Given the description of an element on the screen output the (x, y) to click on. 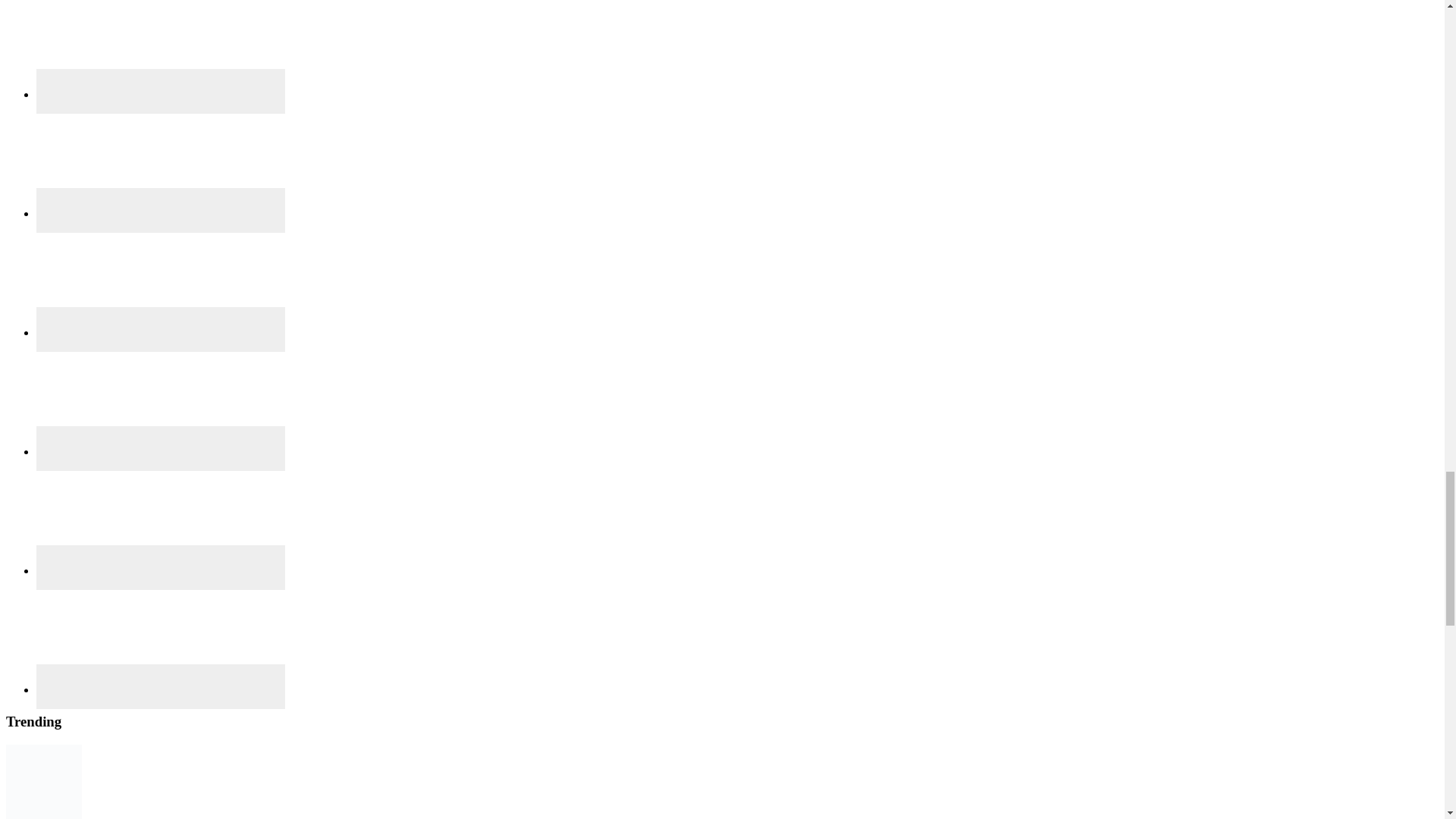
Instagram (160, 329)
YouTube (160, 636)
Pinterest (160, 398)
Twitter (160, 517)
Pinterest (160, 447)
GitHub (160, 210)
Facebook (160, 90)
Instagram (160, 279)
GitHub (160, 160)
Facebook (160, 49)
